Given the description of an element on the screen output the (x, y) to click on. 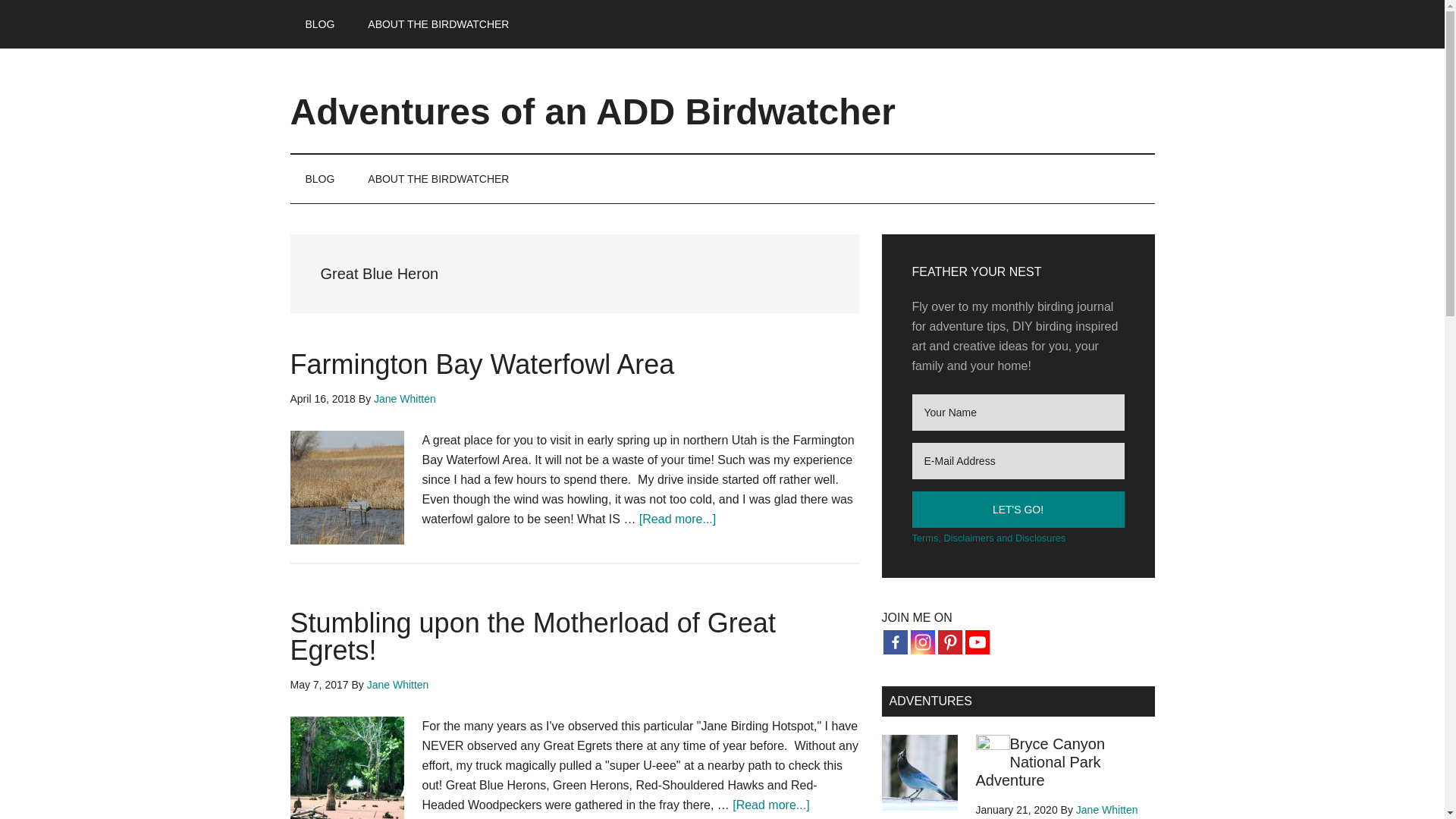
Stumbling upon the Motherload of Great Egrets! (531, 636)
Instagram (922, 641)
Jane Whitten (1106, 809)
Jane Whitten (404, 398)
Pinterest (948, 641)
Bryce Canyon National Park Adventure (1040, 761)
Adventures of an ADD Birdwatcher (592, 111)
LET'S GO! (1017, 509)
ABOUT THE BIRDWATCHER (438, 24)
